Given the description of an element on the screen output the (x, y) to click on. 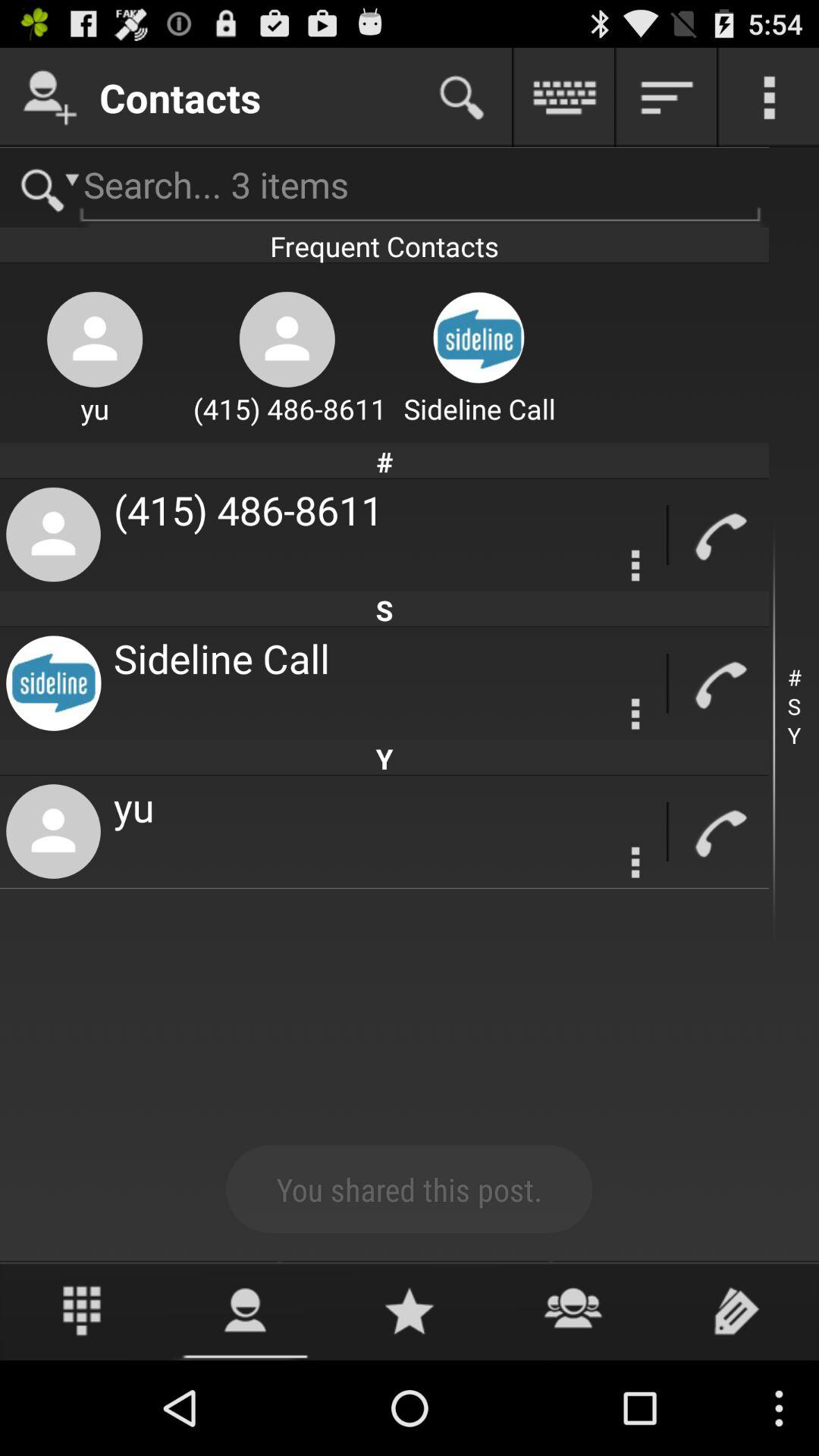
call symbol (718, 534)
